Given the description of an element on the screen output the (x, y) to click on. 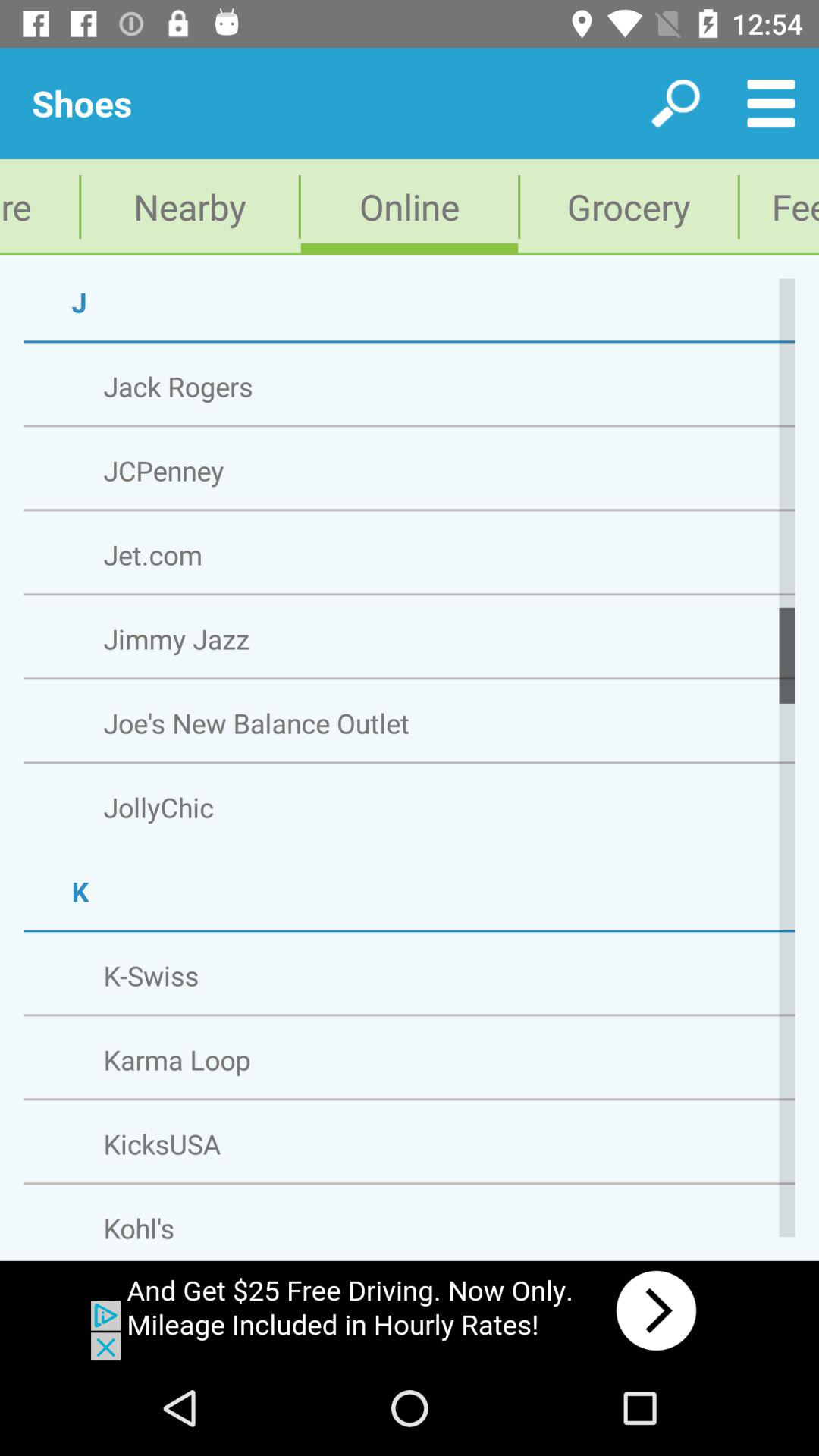
view the adverisment (409, 1310)
